Given the description of an element on the screen output the (x, y) to click on. 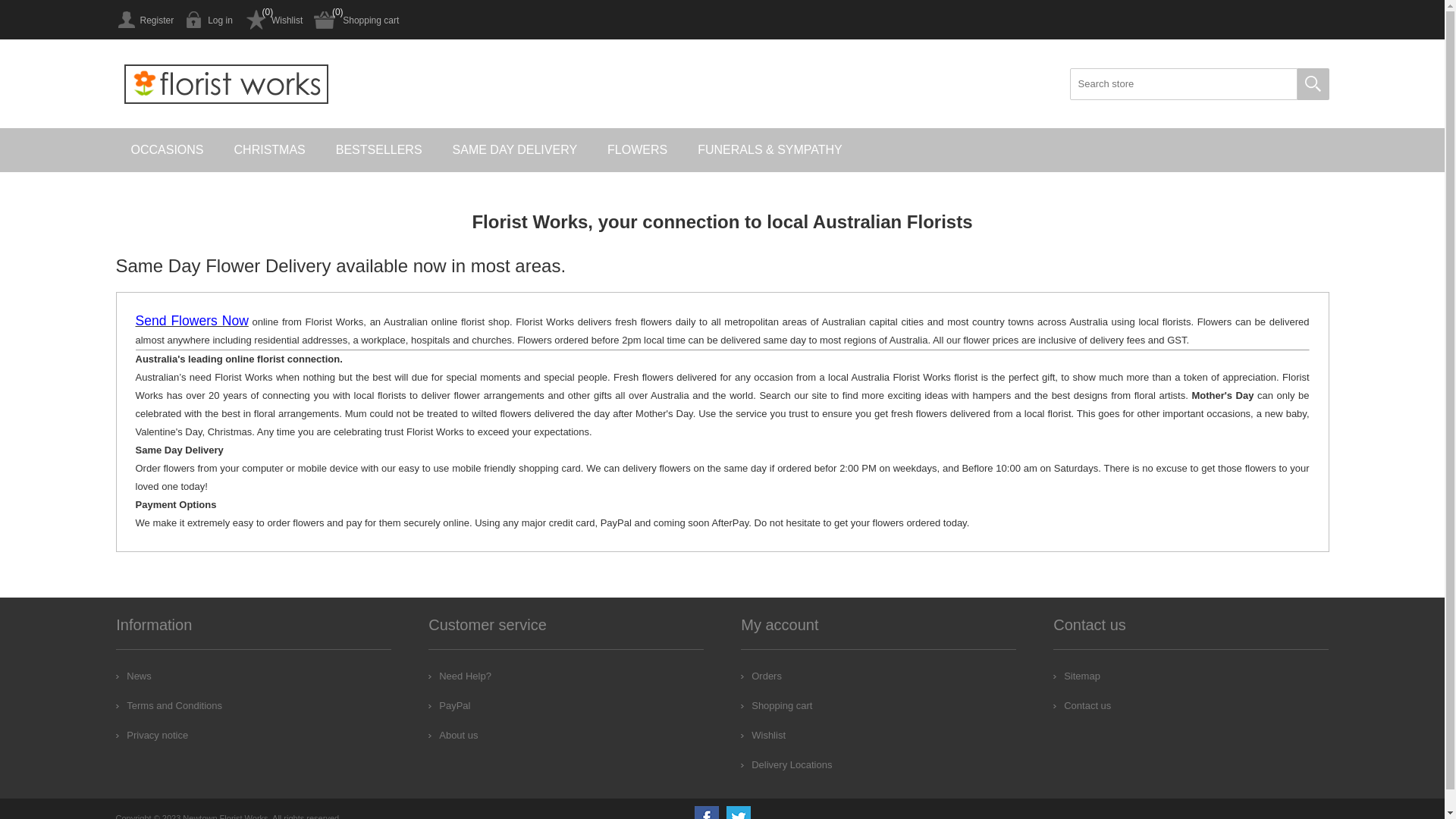
Shopping cart Element type: text (776, 705)
Wishlist Element type: text (273, 19)
BESTSELLERS Element type: text (378, 150)
SAME DAY DELIVERY Element type: text (515, 150)
FUNERALS & SYMPATHY Element type: text (769, 150)
Delivery Locations Element type: text (785, 764)
Search Element type: text (1312, 84)
Wishlist Element type: text (762, 734)
Register Element type: text (144, 19)
CHRISTMAS Element type: text (269, 150)
Send Flowers Now Element type: text (190, 321)
Terms and Conditions Element type: text (169, 705)
About us Element type: text (452, 734)
Privacy notice Element type: text (152, 734)
Shopping cart Element type: text (355, 19)
Orders Element type: text (760, 675)
Contact us Element type: text (1081, 705)
OCCASIONS Element type: text (166, 150)
FLOWERS Element type: text (637, 150)
Log in Element type: text (208, 19)
News Element type: text (133, 675)
Need Help? Element type: text (459, 675)
PayPal Element type: text (449, 705)
Sitemap Element type: text (1076, 675)
